Given the description of an element on the screen output the (x, y) to click on. 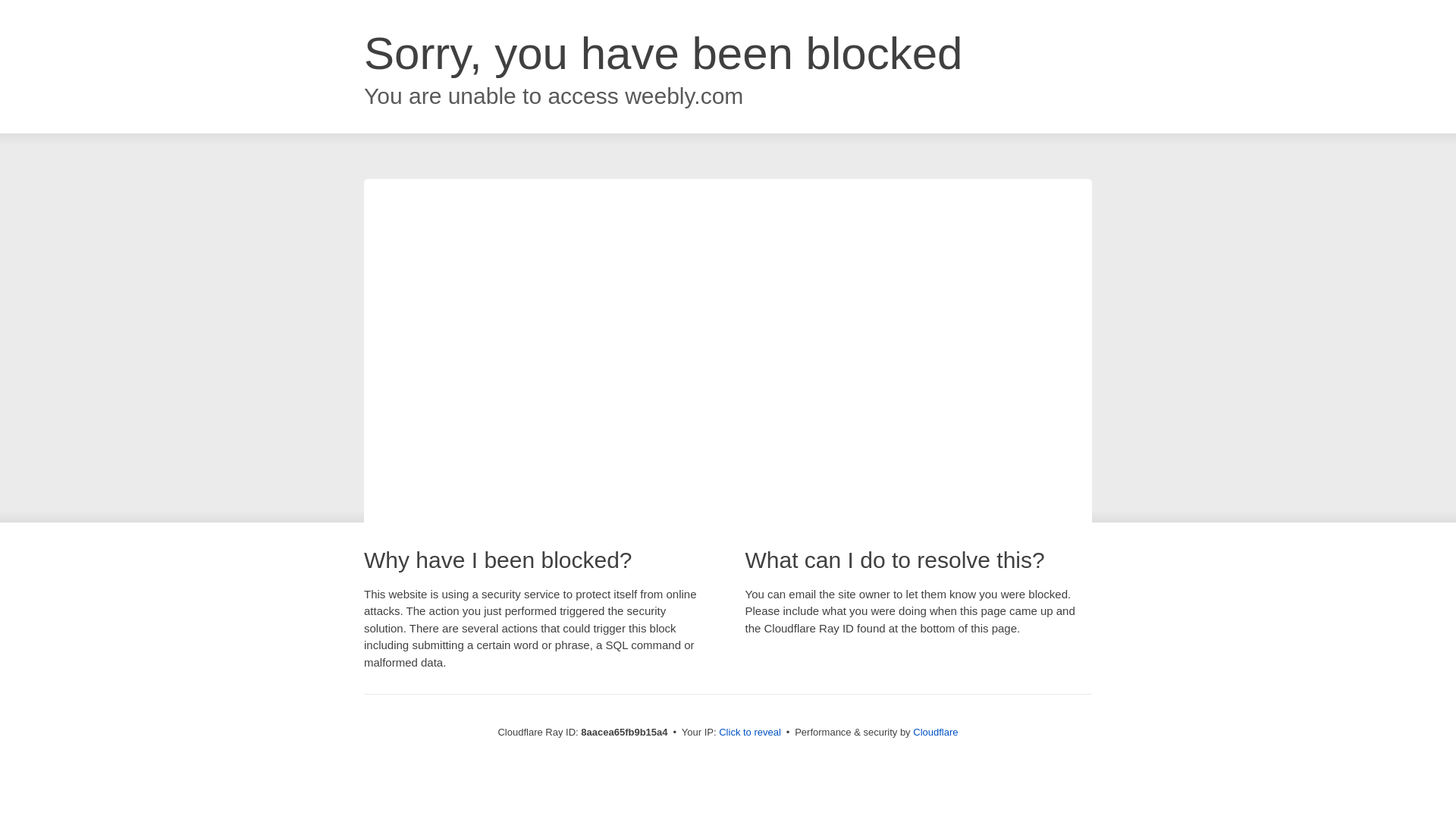
Cloudflare (935, 731)
Click to reveal (749, 732)
